Given the description of an element on the screen output the (x, y) to click on. 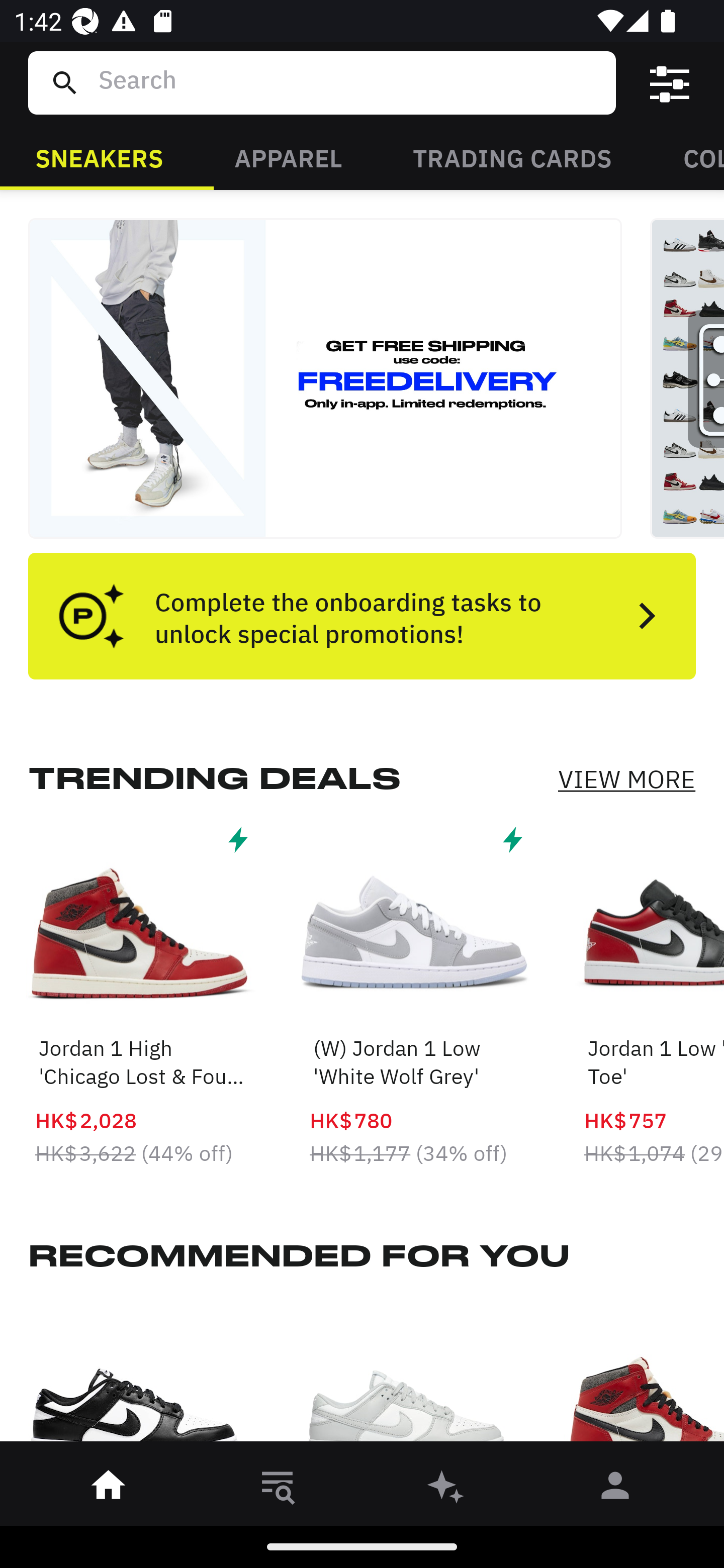
Search (349, 82)
 (669, 82)
SNEAKERS (99, 156)
APPAREL (287, 156)
TRADING CARDS (512, 156)
VIEW MORE (626, 779)
󰋜 (108, 1488)
󱎸 (277, 1488)
󰫢 (446, 1488)
󰀄 (615, 1488)
